Given the description of an element on the screen output the (x, y) to click on. 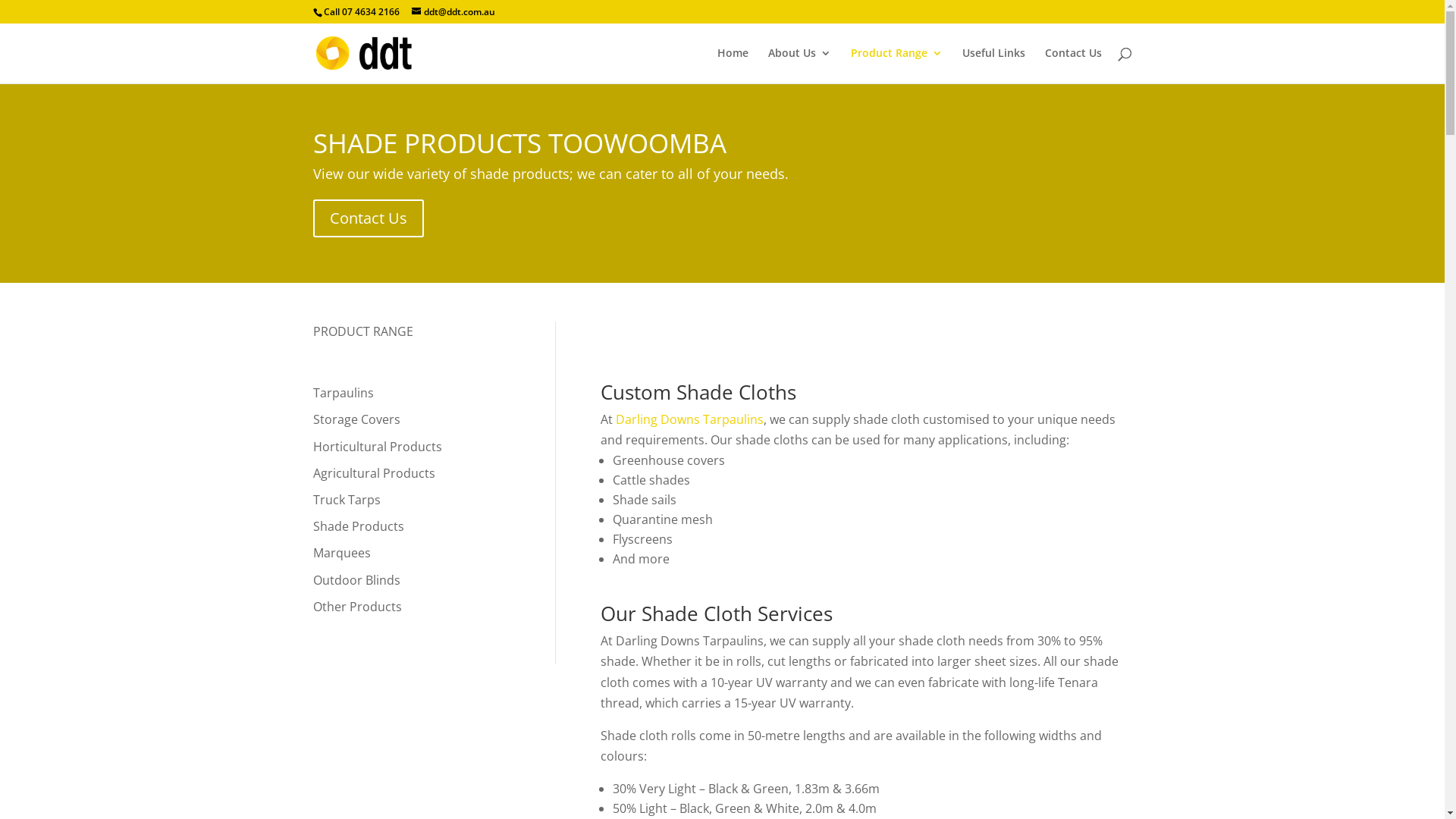
Contact Us Element type: text (367, 218)
Storage Covers Element type: text (355, 419)
ddt@ddt.com.au Element type: text (452, 11)
Shade Products Element type: text (357, 525)
Agricultural Products Element type: text (373, 472)
Darling Downs Tarpaulins Element type: text (689, 419)
Marquees Element type: text (341, 552)
Other Products Element type: text (356, 606)
About Us Element type: text (798, 65)
Home Element type: text (732, 65)
Call 07 4634 2166 Element type: text (360, 11)
Outdoor Blinds Element type: text (355, 579)
Horticultural Products Element type: text (376, 446)
Tarpaulins Element type: text (342, 392)
Contact Us Element type: text (1072, 65)
Truck Tarps Element type: text (345, 499)
Useful Links Element type: text (992, 65)
Product Range Element type: text (896, 65)
